Given the description of an element on the screen output the (x, y) to click on. 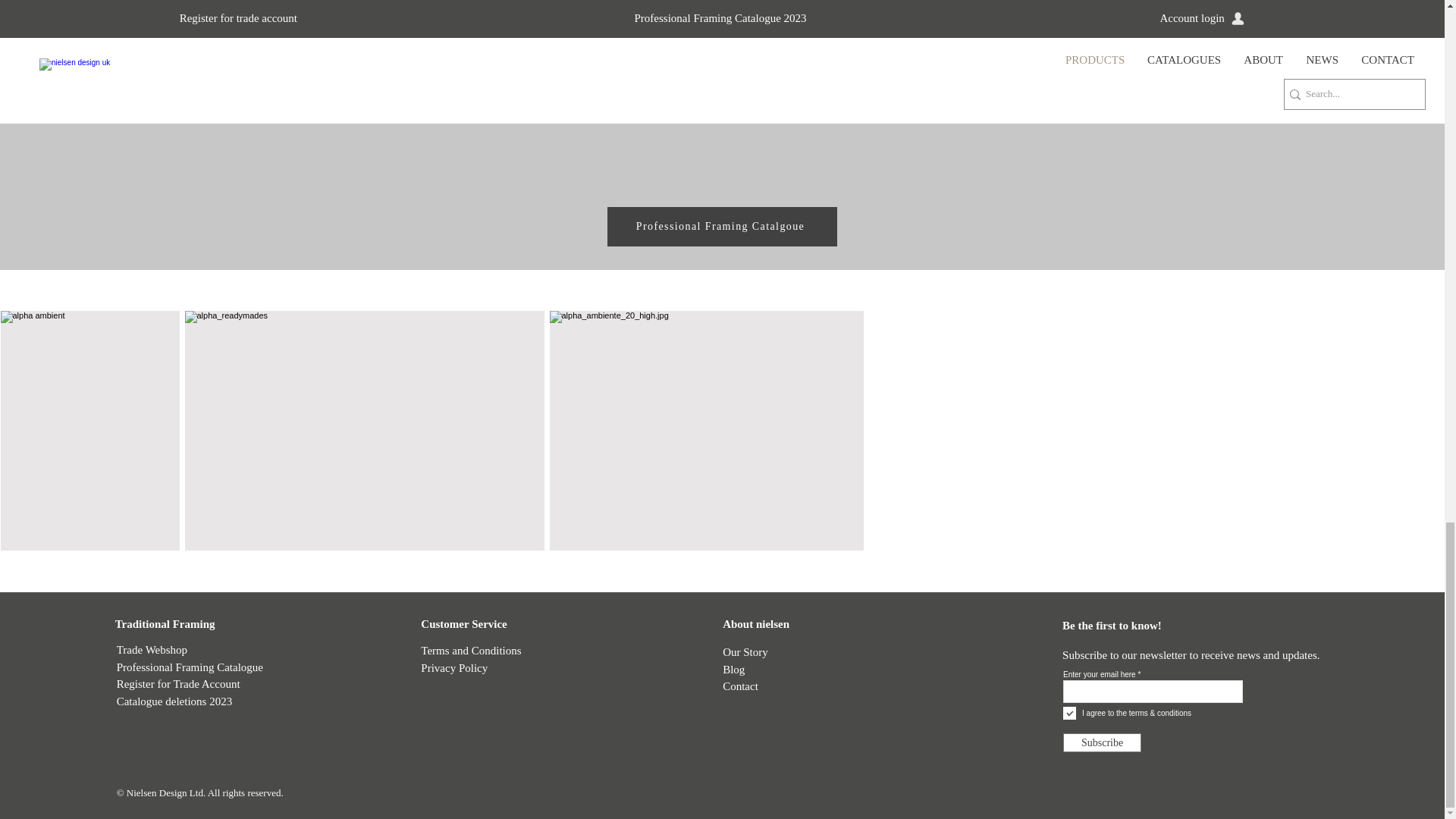
Contact (740, 685)
Terms and Conditions (470, 649)
Professional Framing Catalogue (189, 666)
Catalogue deletions 2023 (173, 700)
Trade Webshop (151, 649)
Privacy Policy (453, 667)
Blog (733, 668)
Professional Framing Catalgoue (721, 226)
Our Story (745, 652)
Register for Trade Account (178, 683)
